Given the description of an element on the screen output the (x, y) to click on. 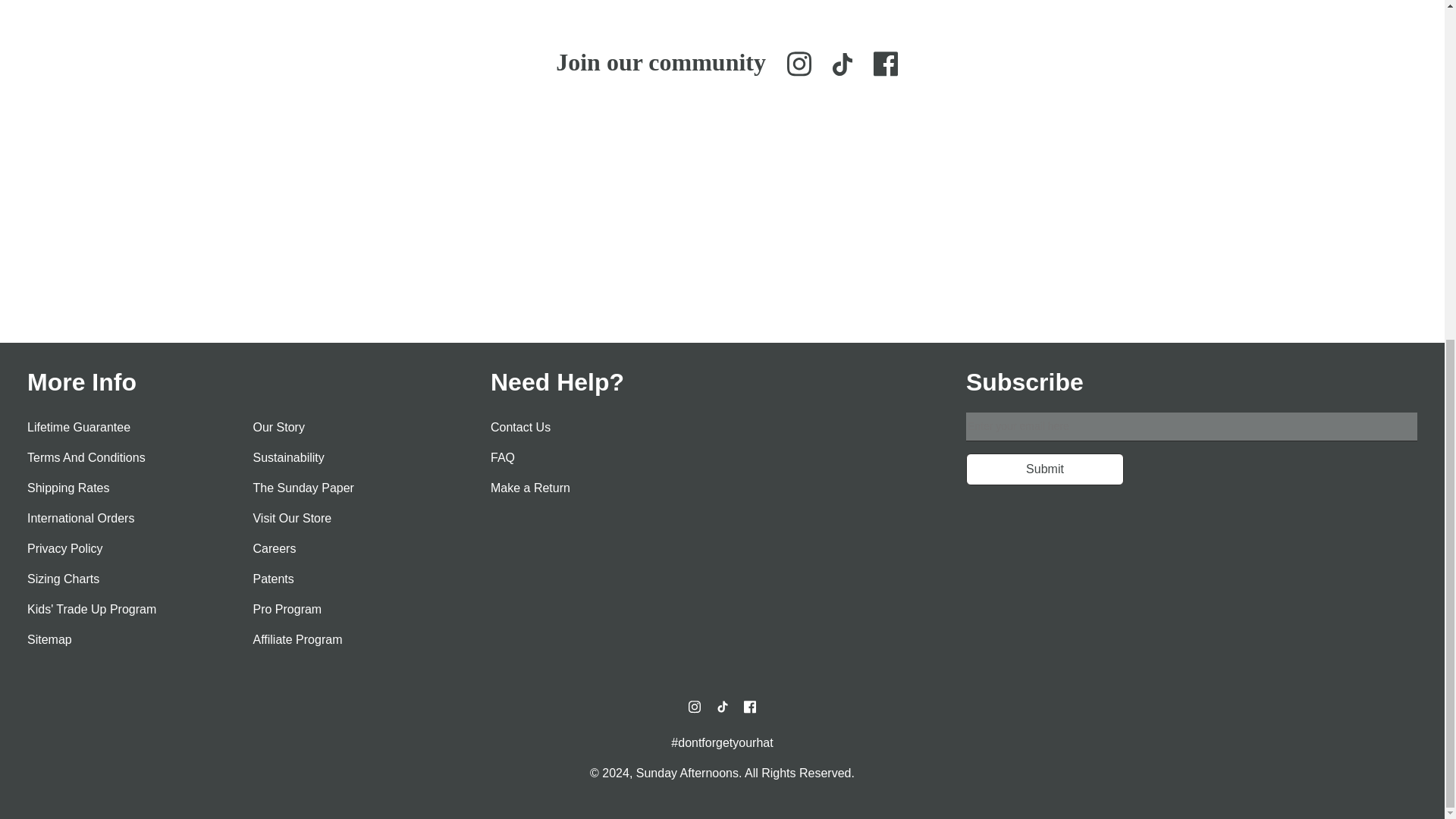
tiktok (722, 706)
tiktok (841, 64)
